Given the description of an element on the screen output the (x, y) to click on. 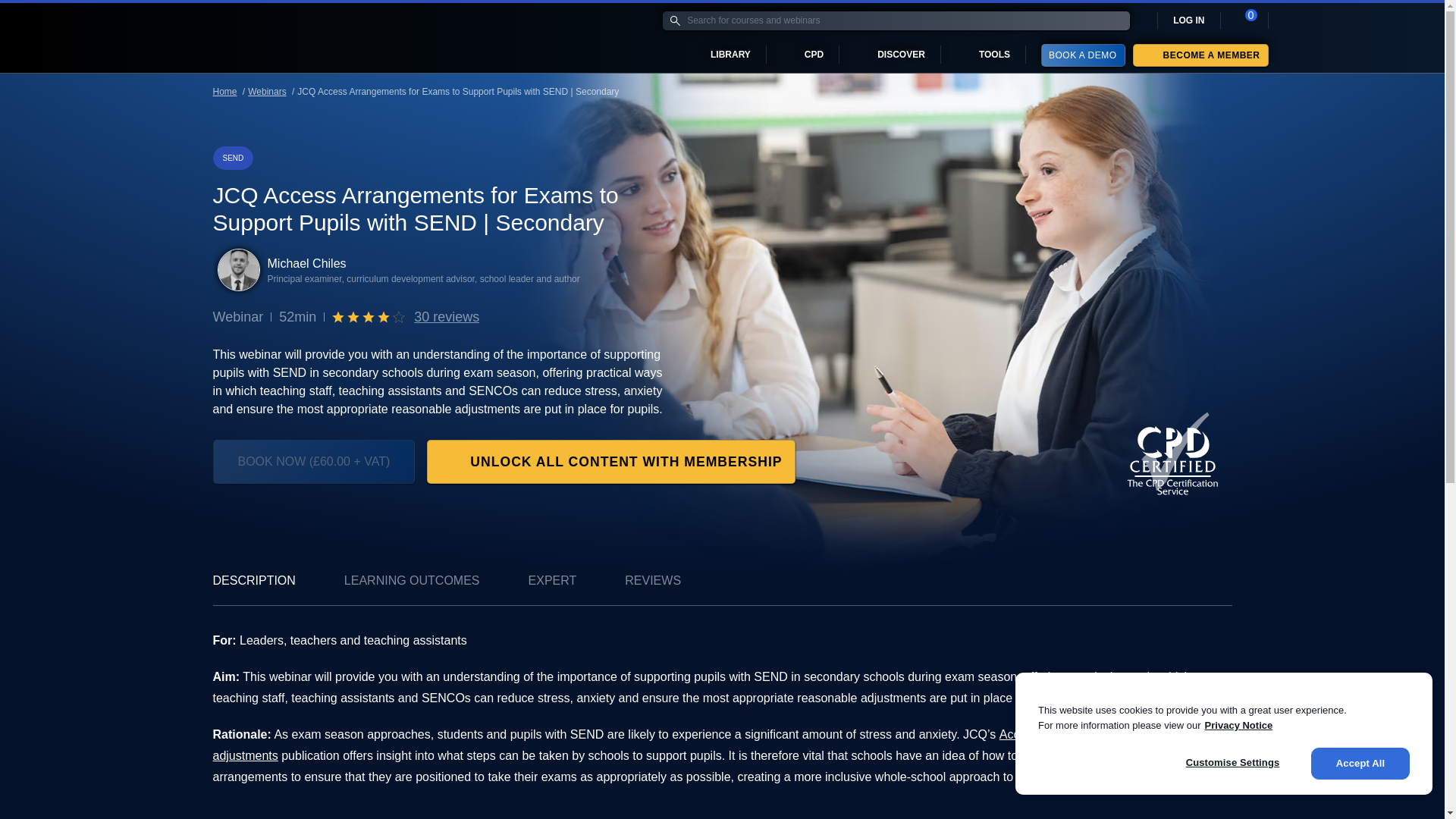
LIBRARY (719, 54)
LOG IN (1188, 20)
0 (1244, 20)
Home (197, 37)
CPD (803, 54)
TOOLS (983, 54)
DISCOVER (890, 54)
